Given the description of an element on the screen output the (x, y) to click on. 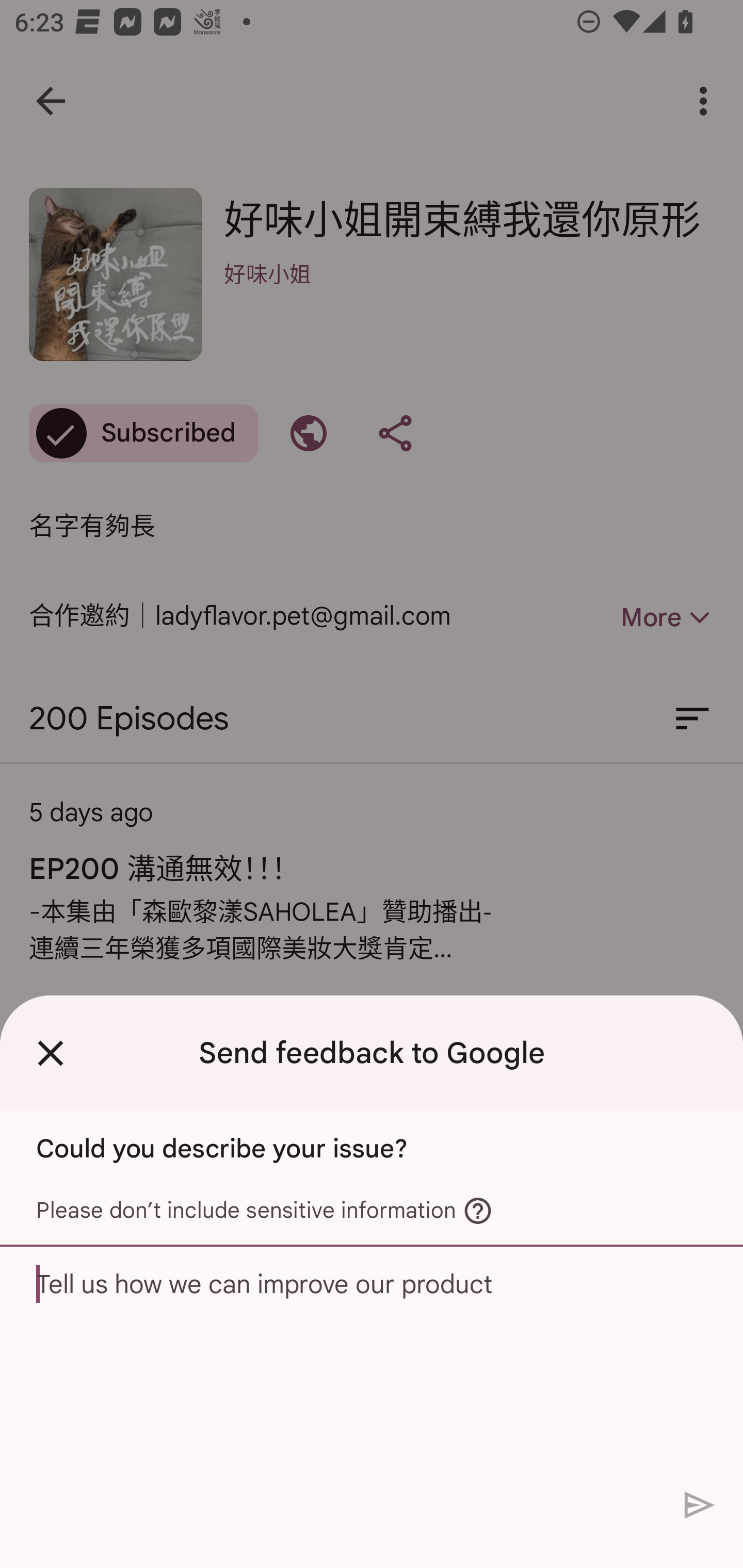
Close Feedback (50, 1052)
Tell us how we can improve our product (371, 1362)
Submit the feedback that you entered (699, 1504)
